Given the description of an element on the screen output the (x, y) to click on. 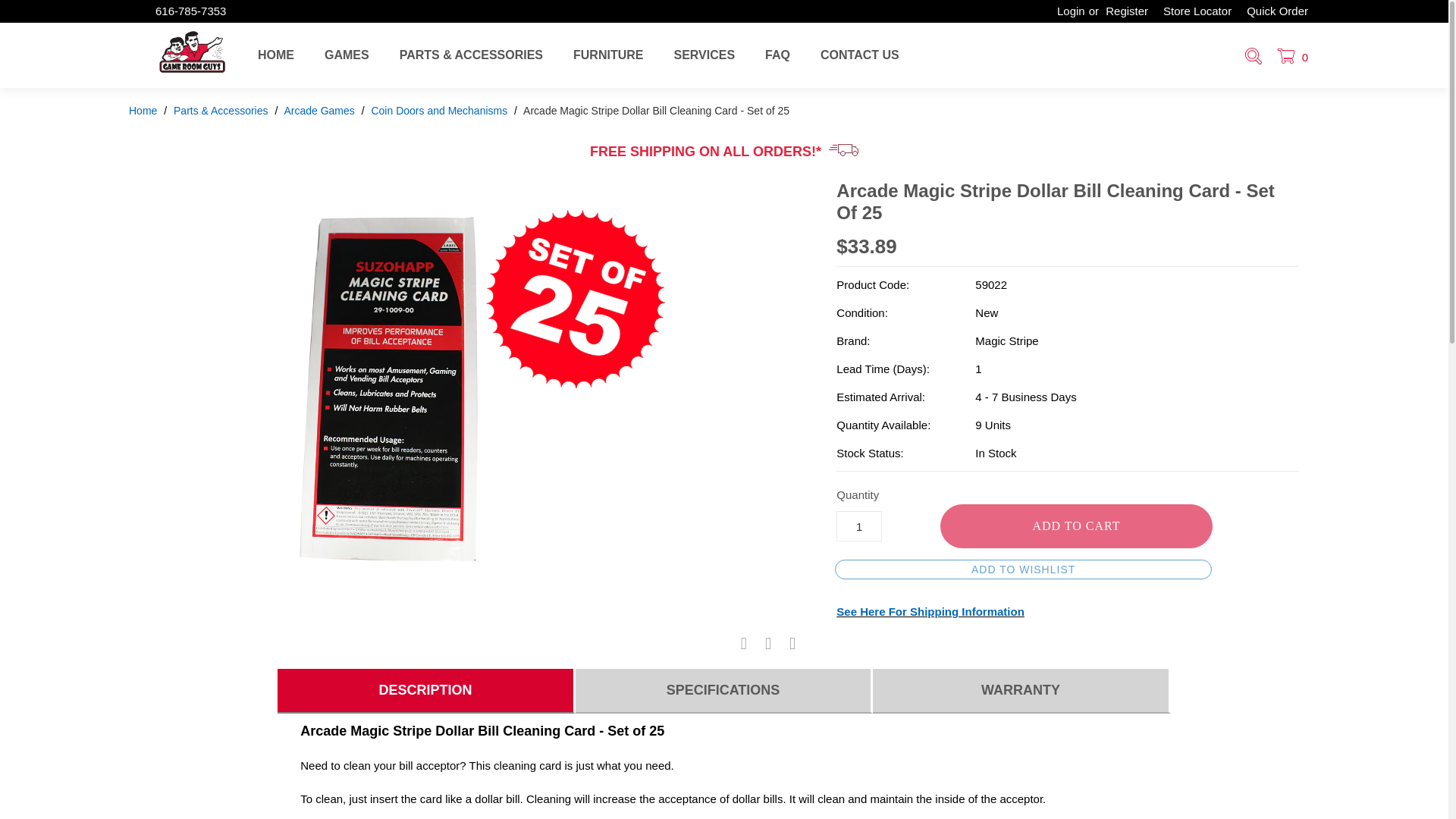
616-785-7353 (190, 11)
Quick Order (1277, 11)
Game Room Guys SCS (193, 78)
Store Locator (1197, 11)
GAMES (346, 55)
Quick Order (1277, 11)
Cart (1291, 56)
Login (1066, 11)
Store Locator (1197, 11)
Register (1130, 11)
